Given the description of an element on the screen output the (x, y) to click on. 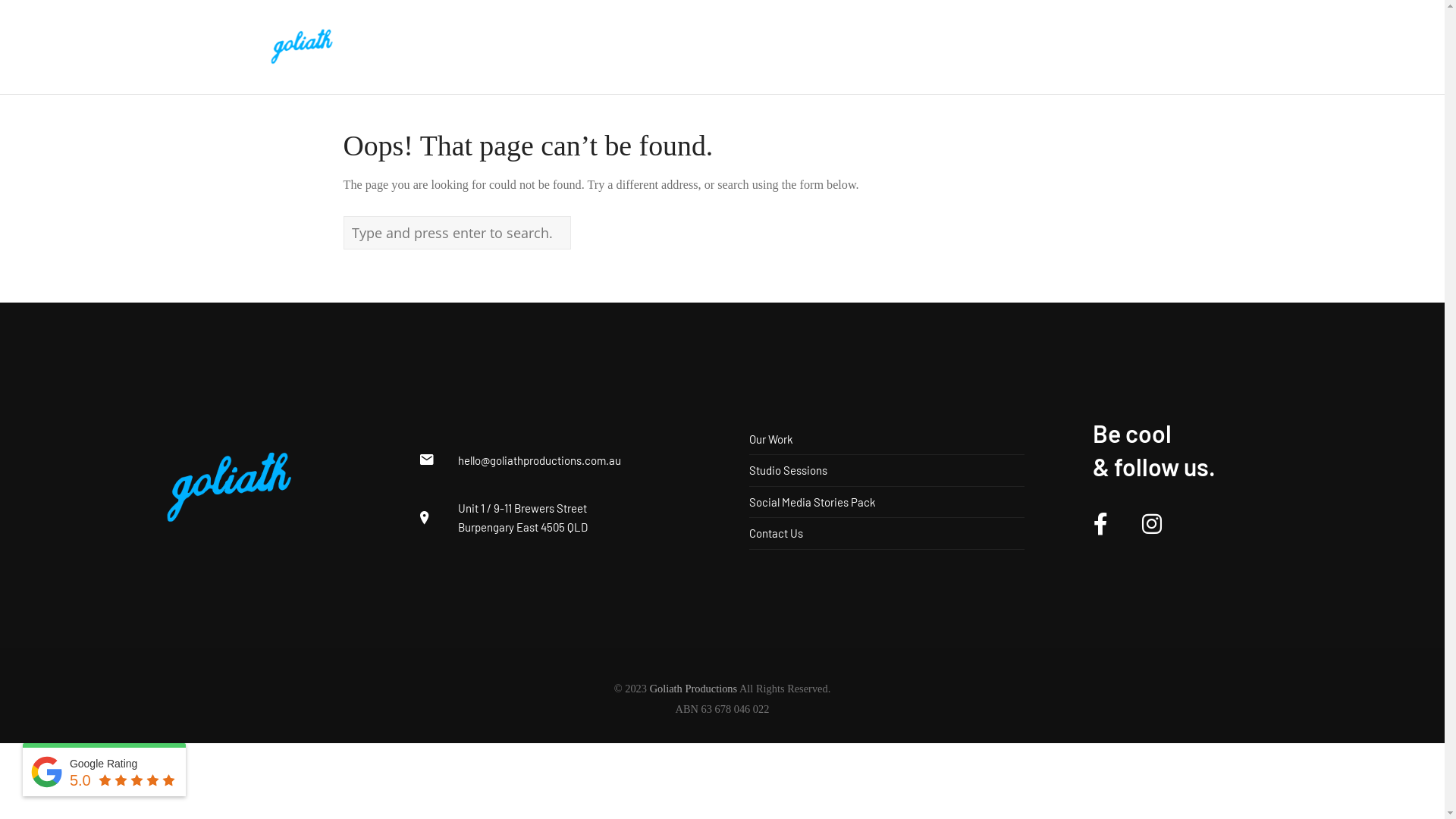
Goliath Logo on Alpha (00B1FF) Element type: hover (229, 486)
Studio Sessions Element type: text (788, 469)
Contact Us Element type: text (776, 532)
Goliath Productions on Facebook Element type: hover (1100, 524)
Unit 1 / 9-11 Brewers Street
Burpengary East 4505 QLD Element type: text (522, 517)
hello@goliathproductions.com.au Element type: text (539, 460)
Our Work Element type: text (771, 438)
Goliath Productions on Instagram Element type: hover (1151, 524)
Goliath Productions Element type: text (693, 688)
Social Media Stories Pack Element type: text (812, 501)
